Given the description of an element on the screen output the (x, y) to click on. 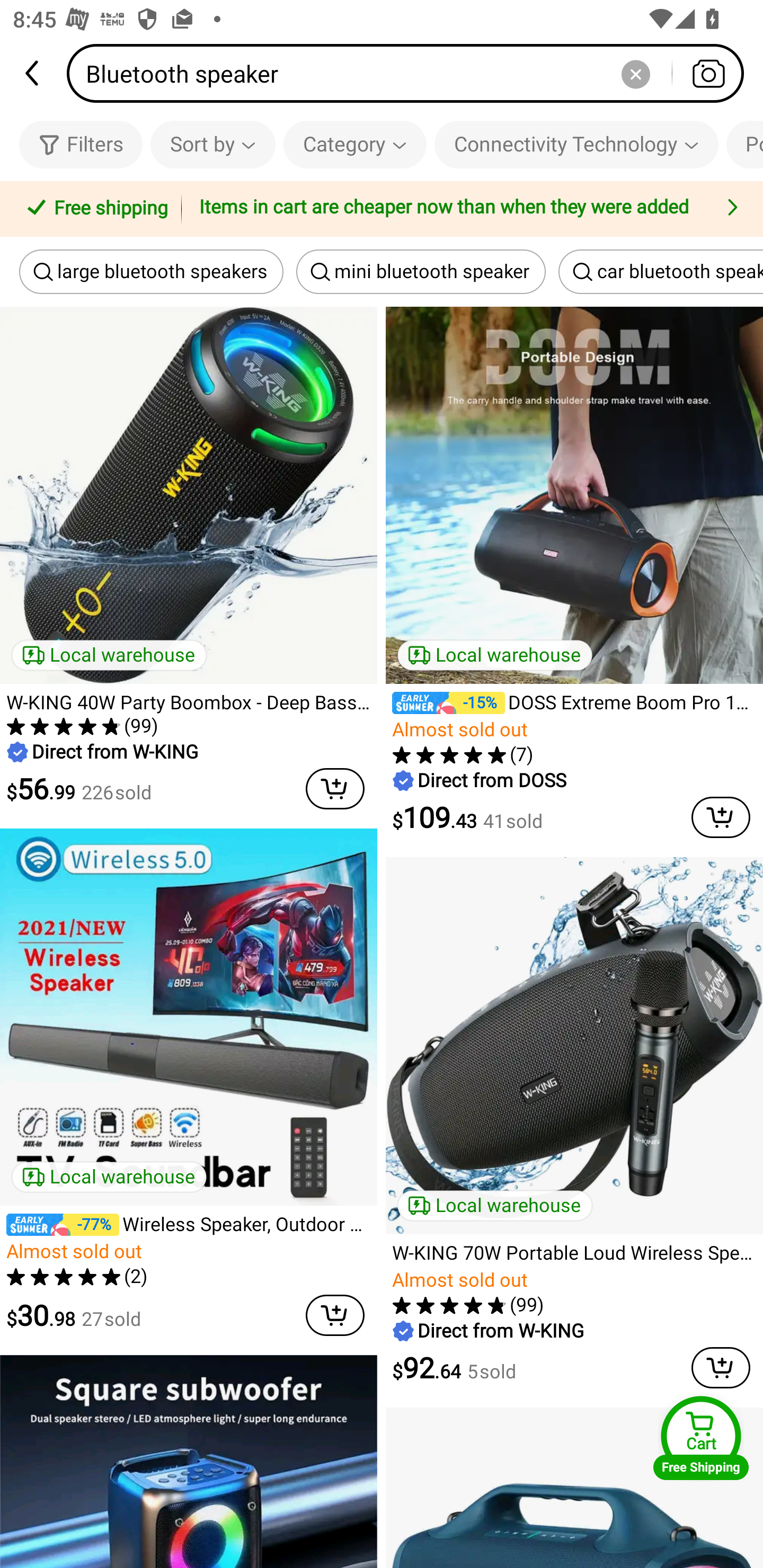
back (33, 72)
Bluetooth speaker (411, 73)
Delete search history (635, 73)
Search by photo (708, 73)
Filters (80, 143)
Sort by (212, 143)
Category (354, 143)
Connectivity Technology (576, 143)
 Free shipping (93, 208)
large bluetooth speakers (151, 271)
mini bluetooth speaker (420, 271)
car bluetooth speaker (660, 271)
Cart Free Shipping Cart (701, 1437)
